Given the description of an element on the screen output the (x, y) to click on. 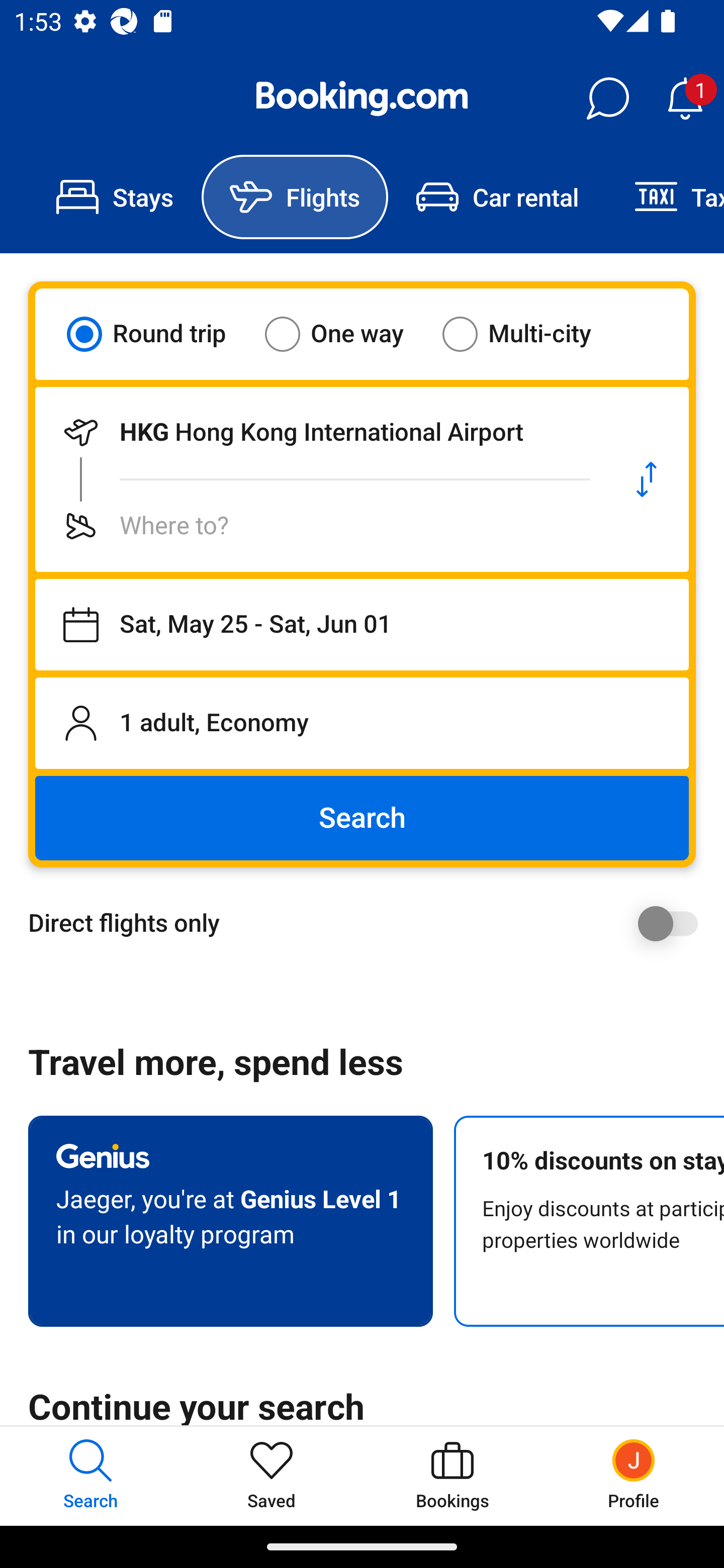
Messages (607, 98)
Notifications (685, 98)
Stays (114, 197)
Flights (294, 197)
Car rental (497, 197)
Taxi (665, 197)
One way (346, 333)
Multi-city (528, 333)
Departing from HKG Hong Kong International Airport (319, 432)
Swap departure location and destination (646, 479)
Flying to  (319, 525)
Departing on Sat, May 25, returning on Sat, Jun 01 (361, 624)
1 adult, Economy (361, 722)
Search (361, 818)
Direct flights only (369, 923)
Saved (271, 1475)
Bookings (452, 1475)
Profile (633, 1475)
